Given the description of an element on the screen output the (x, y) to click on. 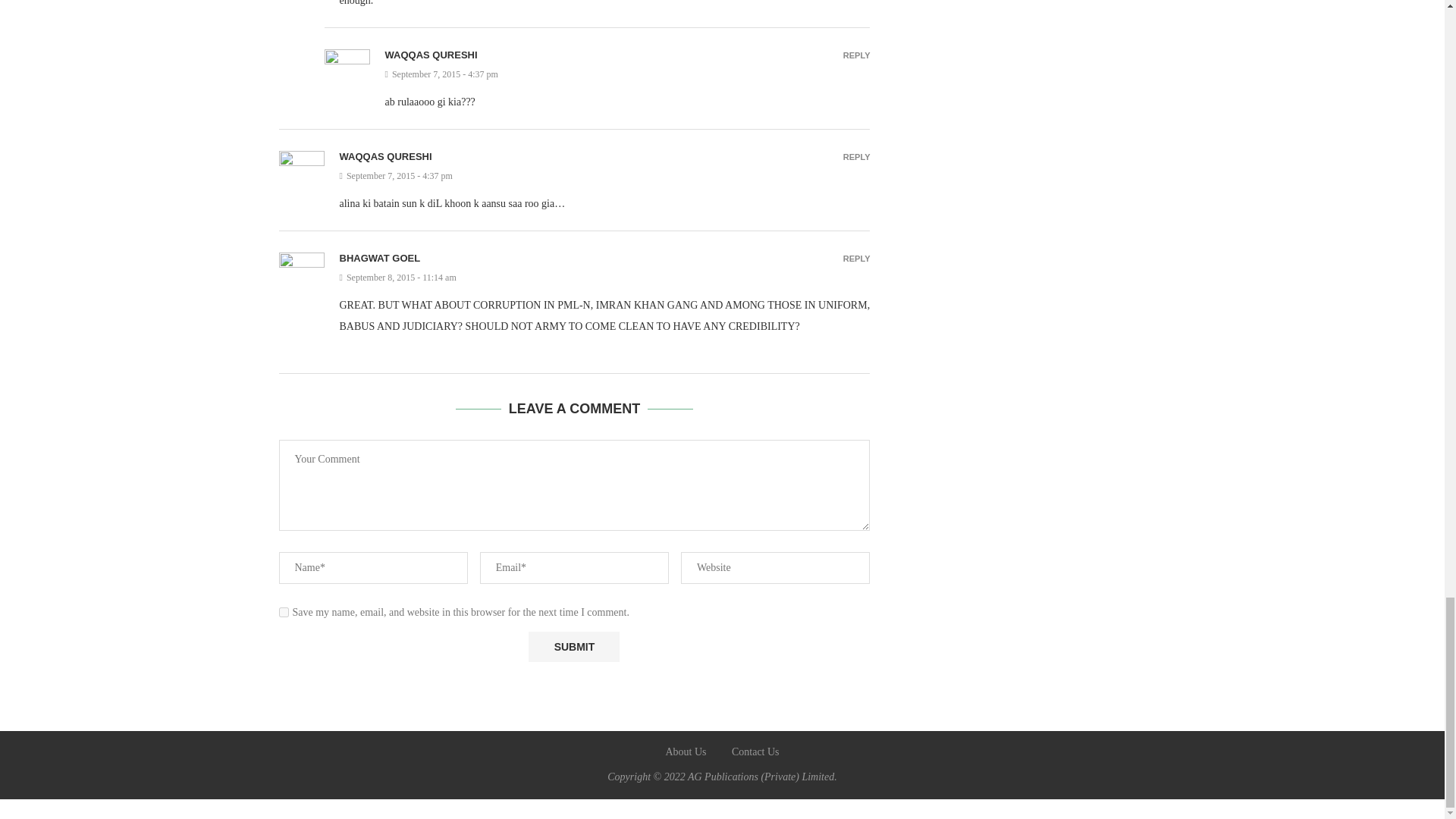
yes (283, 612)
Submit (574, 646)
